Given the description of an element on the screen output the (x, y) to click on. 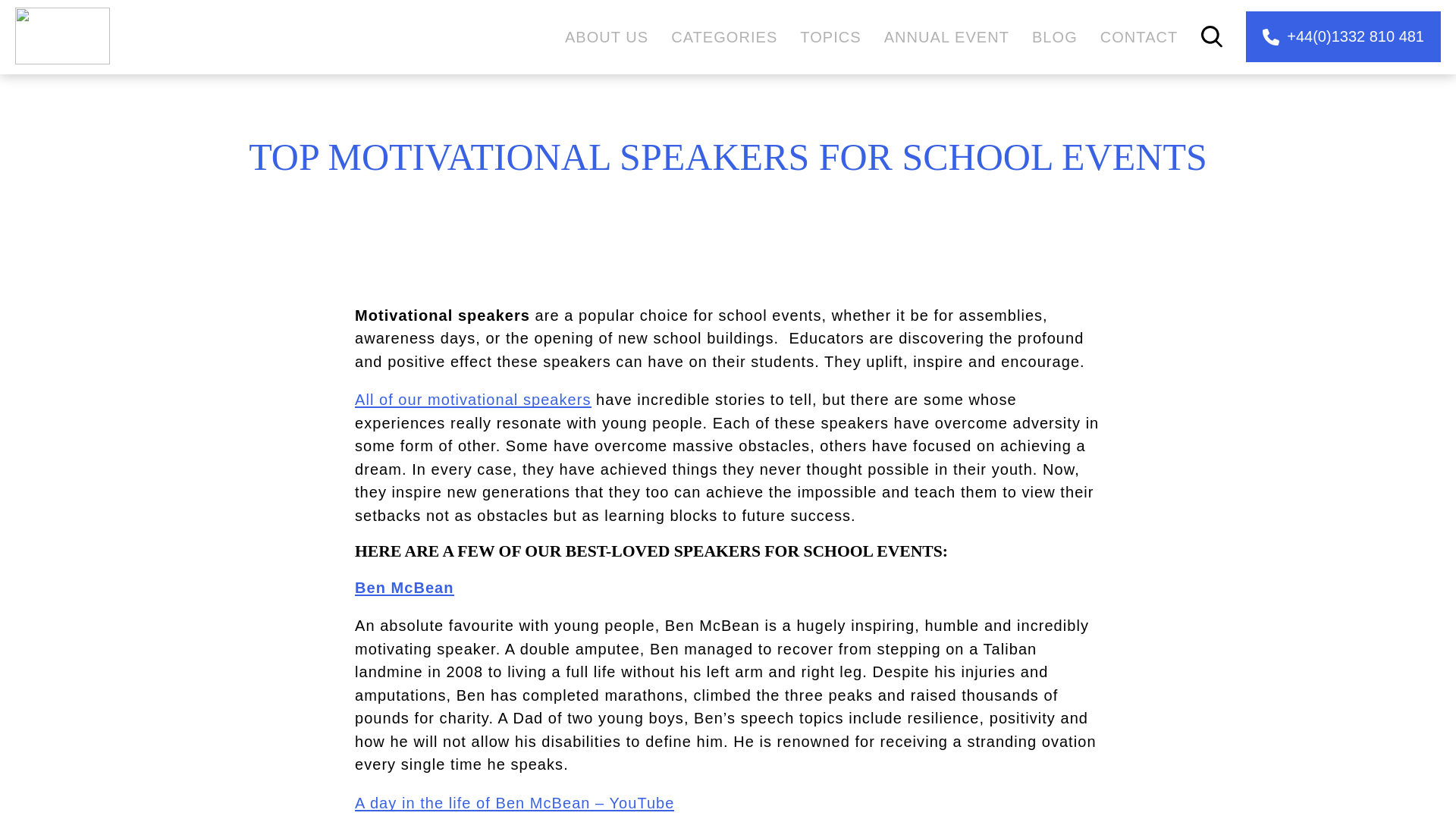
CATEGORIES (724, 36)
TOPICS (829, 36)
TOP MOTIVATIONAL SPEAKERS FOR SCHOOL EVENTS (727, 156)
ABOUT US (605, 36)
